Given the description of an element on the screen output the (x, y) to click on. 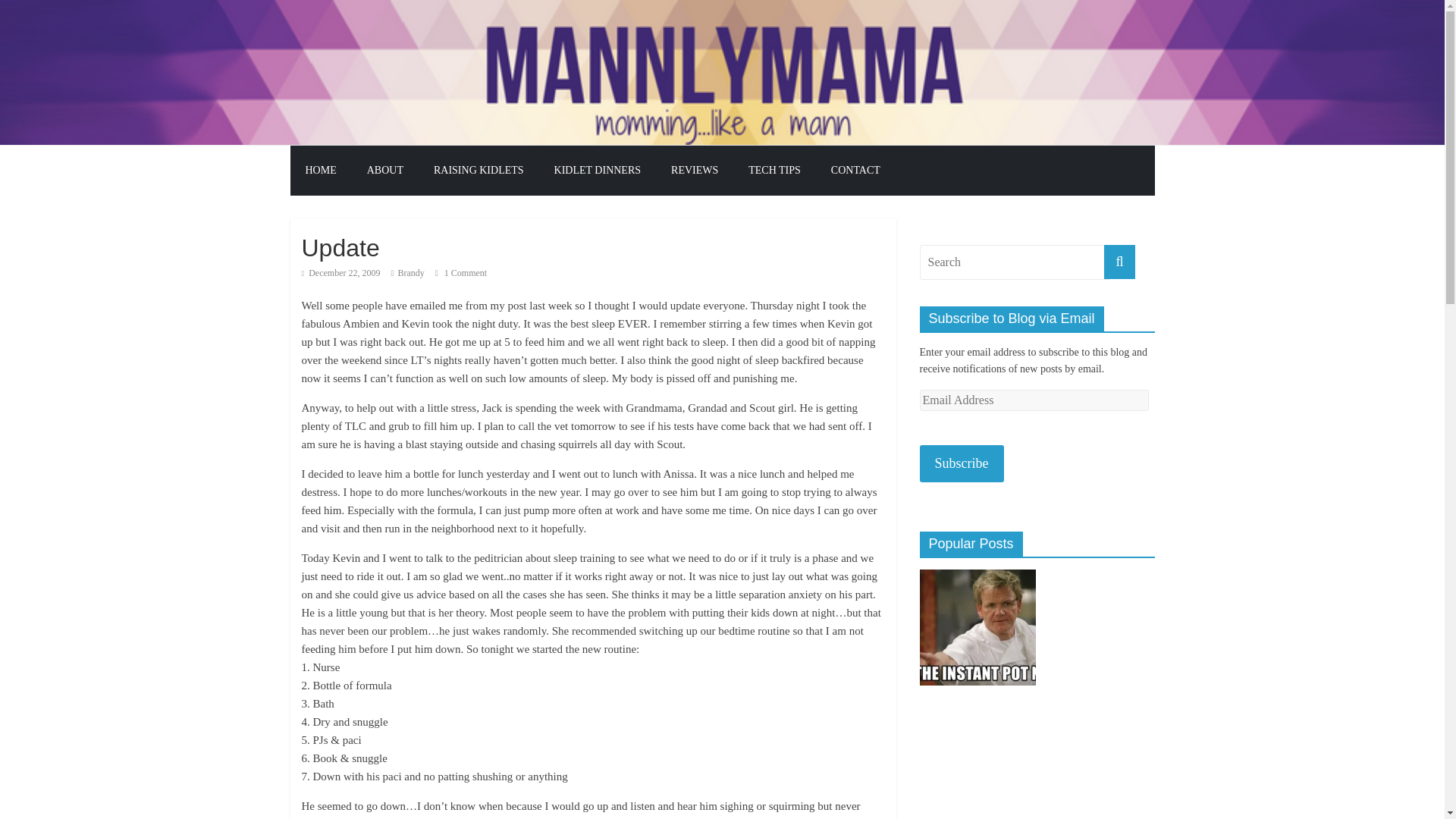
HOME (319, 170)
KIDLET DINNERS (597, 170)
REVIEWS (694, 170)
CONTACT (855, 170)
Brandy (410, 272)
Brandy (410, 272)
Subscribe (960, 463)
December 22, 2009 (340, 272)
TECH TIPS (774, 170)
RAISING KIDLETS (478, 170)
